Given the description of an element on the screen output the (x, y) to click on. 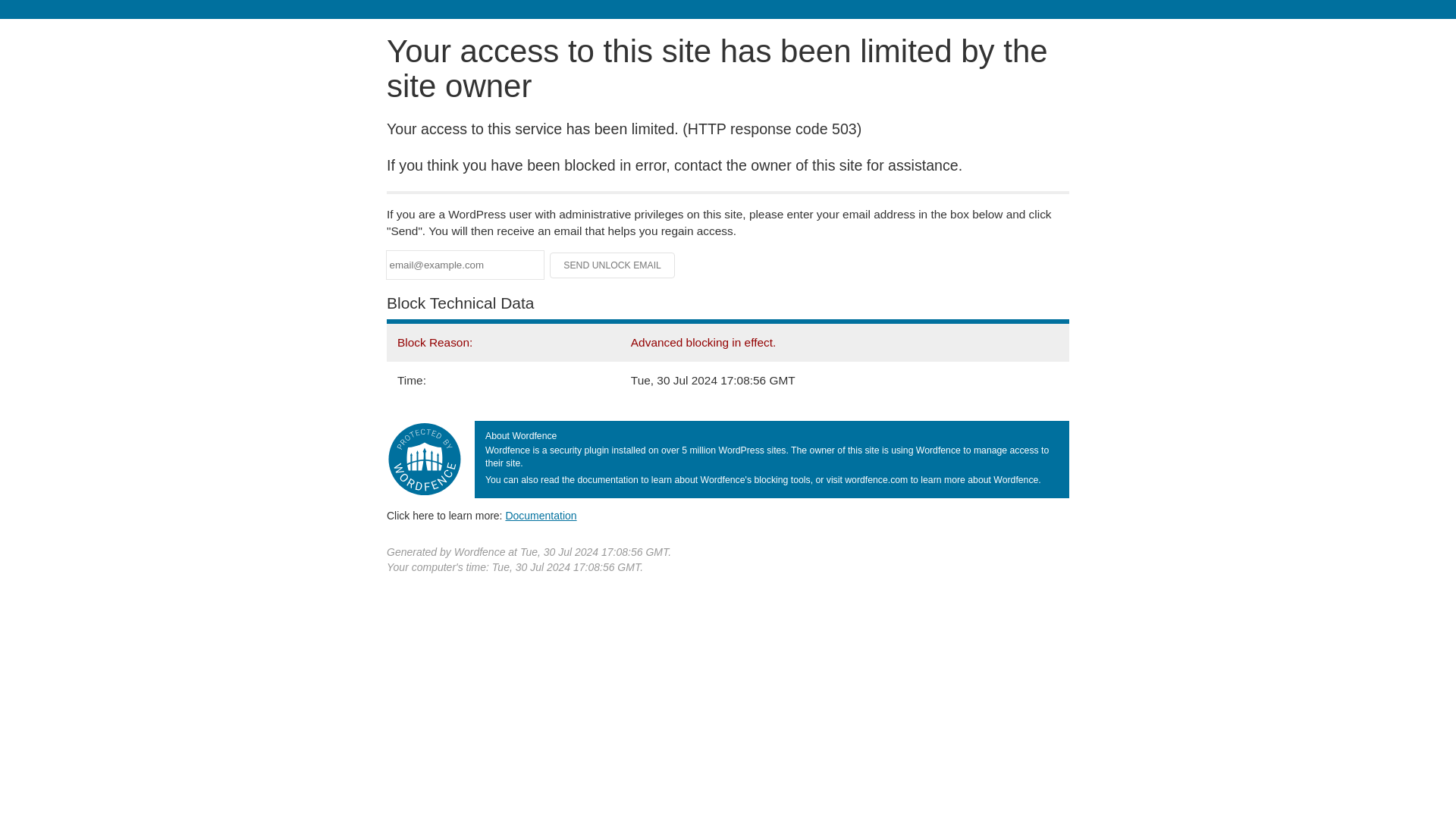
Send Unlock Email (612, 265)
Send Unlock Email (612, 265)
Documentation (540, 515)
